Given the description of an element on the screen output the (x, y) to click on. 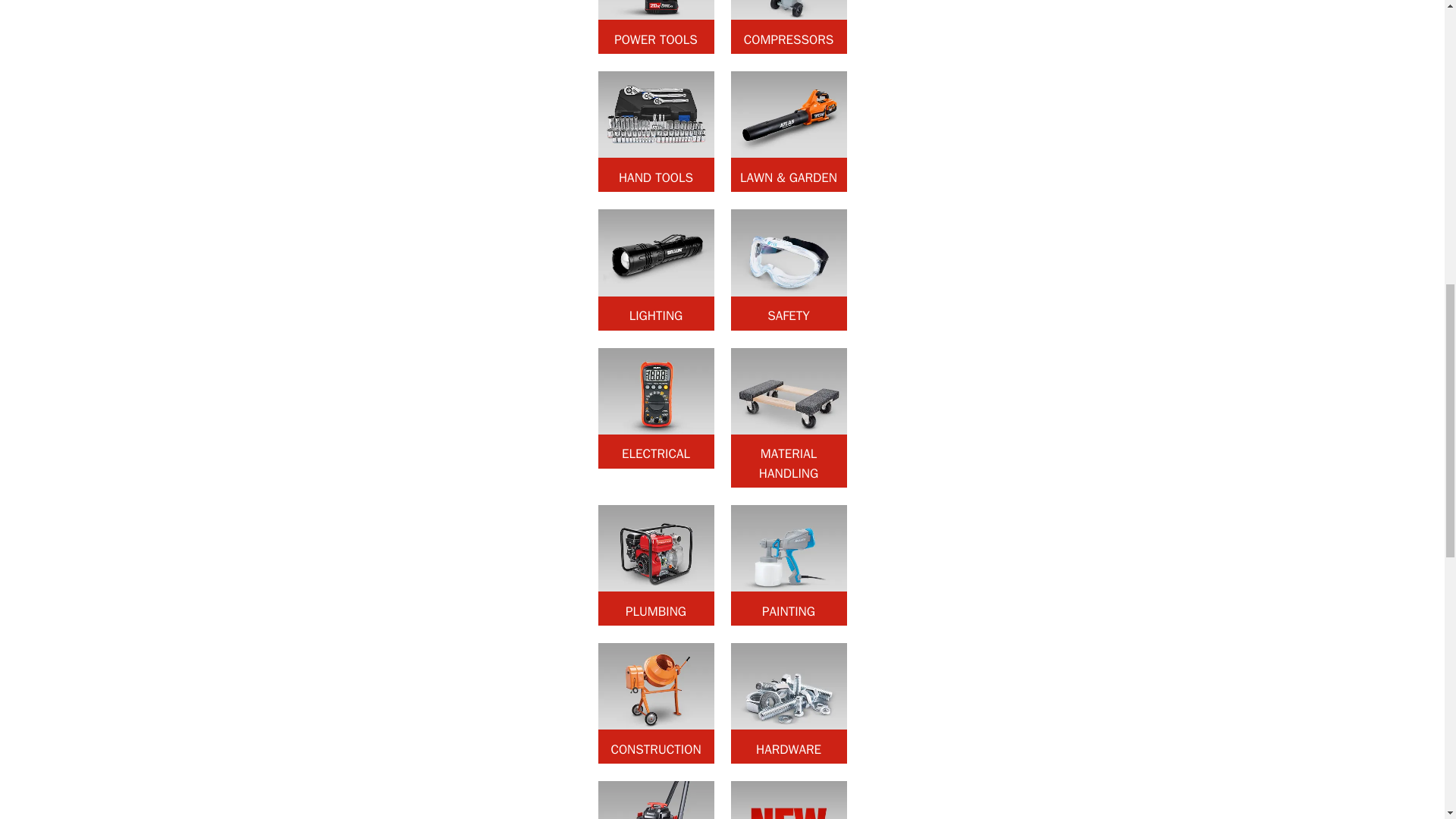
HARDWARE (788, 702)
PLUMBING (654, 565)
HAND TOOLS (654, 131)
POWER TOOLS (654, 27)
CONSTRUCTION (654, 702)
LIGHTING (654, 269)
NEW TOOLS (788, 800)
PAINTING (788, 565)
SAFETY (788, 269)
ELECTRICAL (654, 408)
